Given the description of an element on the screen output the (x, y) to click on. 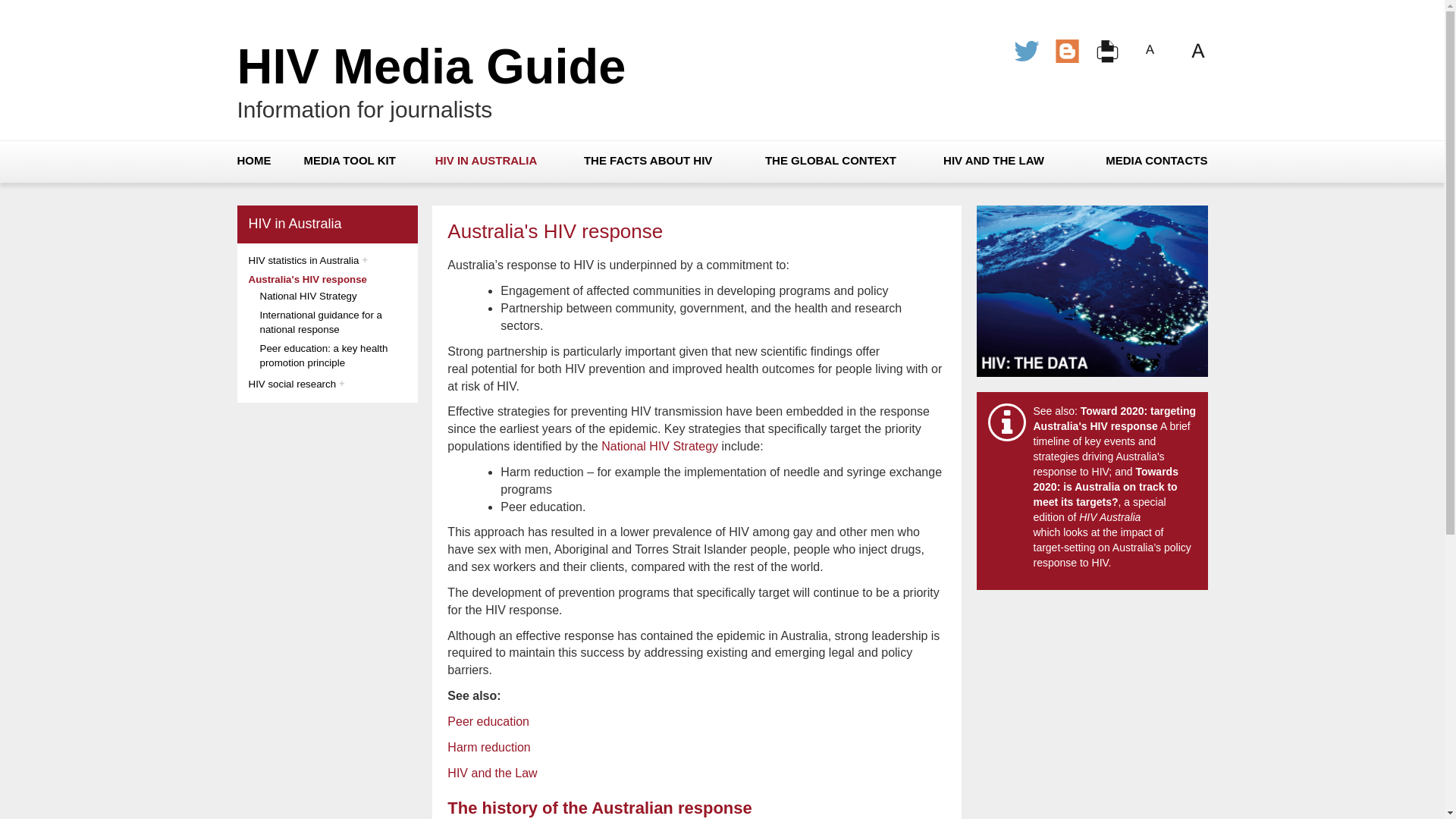
Peer education: a key health promotion principle Element type: text (323, 355)
Australia's HIV response Element type: text (307, 279)
THE GLOBAL CONTEXT Element type: text (830, 159)
National HIV Strategy Element type: text (659, 445)
National HIV Strategy Element type: text (307, 295)
Toward 2020: targeting Australia's HIV response Element type: text (1113, 418)
HIV Media Guide Element type: text (430, 66)
MEDIA CONTACTS Element type: text (1156, 159)
HIV IN AUSTRALIA Element type: text (485, 159)
HIV and the Law Element type: text (491, 772)
MEDIA TOOL KIT Element type: text (349, 159)
HIV social research Element type: text (292, 383)
HIV AND THE LAW Element type: text (993, 159)
International guidance for a national response Element type: text (320, 322)
HIV in Australia Element type: text (295, 223)
Towards 2020: is Australia on track to meet its targets? Element type: text (1104, 486)
HOME Element type: text (253, 159)
THE FACTS ABOUT HIV Element type: text (647, 159)
HIV statistics in Australia Element type: text (303, 260)
Peer education Element type: text (488, 721)
Harm reduction Element type: text (488, 746)
